Given the description of an element on the screen output the (x, y) to click on. 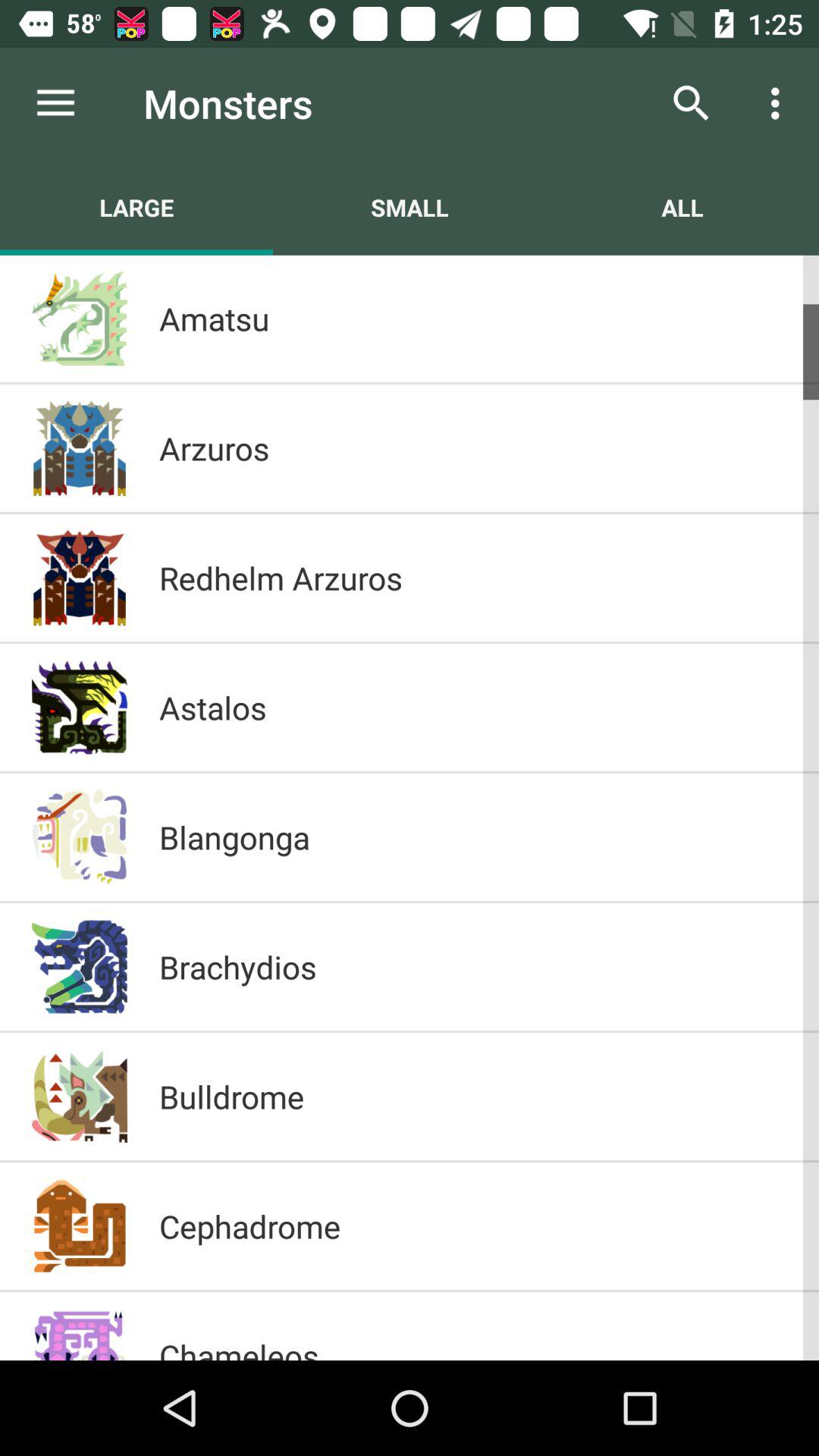
press the item below the monsters (409, 207)
